Given the description of an element on the screen output the (x, y) to click on. 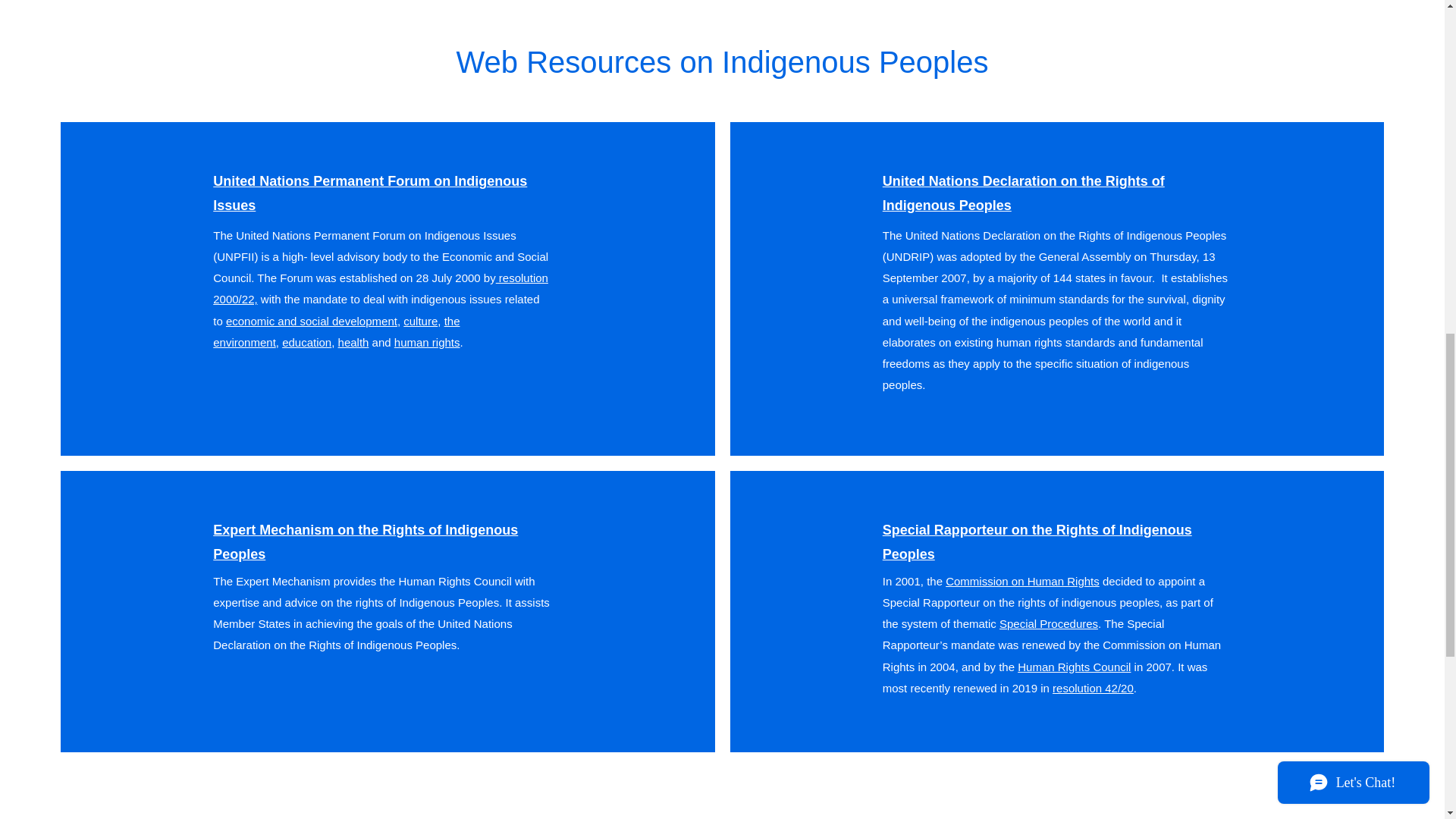
human rights (427, 341)
health (353, 341)
culture (420, 320)
United Nations Permanent Forum on Indigenous Issues (369, 192)
education (306, 341)
Special Procedures (1047, 623)
Special Rapporteur on the Rights of Indigenous Peoples (1037, 541)
Expert Mechanism on the Rights of Indigenous Peoples (365, 541)
Commission on Human Rights (1021, 581)
